Given the description of an element on the screen output the (x, y) to click on. 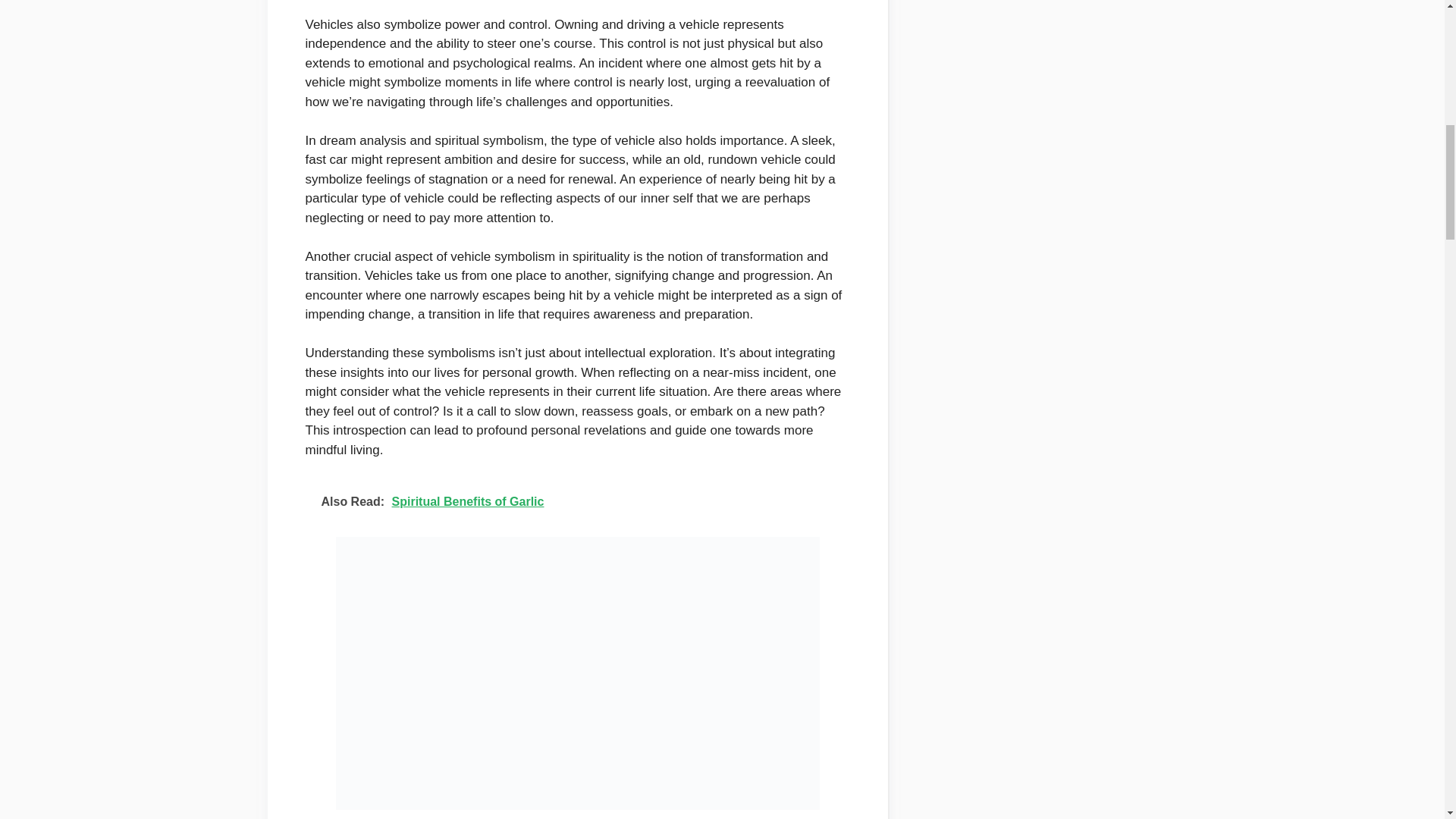
Also Read:  Spiritual Benefits of Garlic (576, 501)
